Given the description of an element on the screen output the (x, y) to click on. 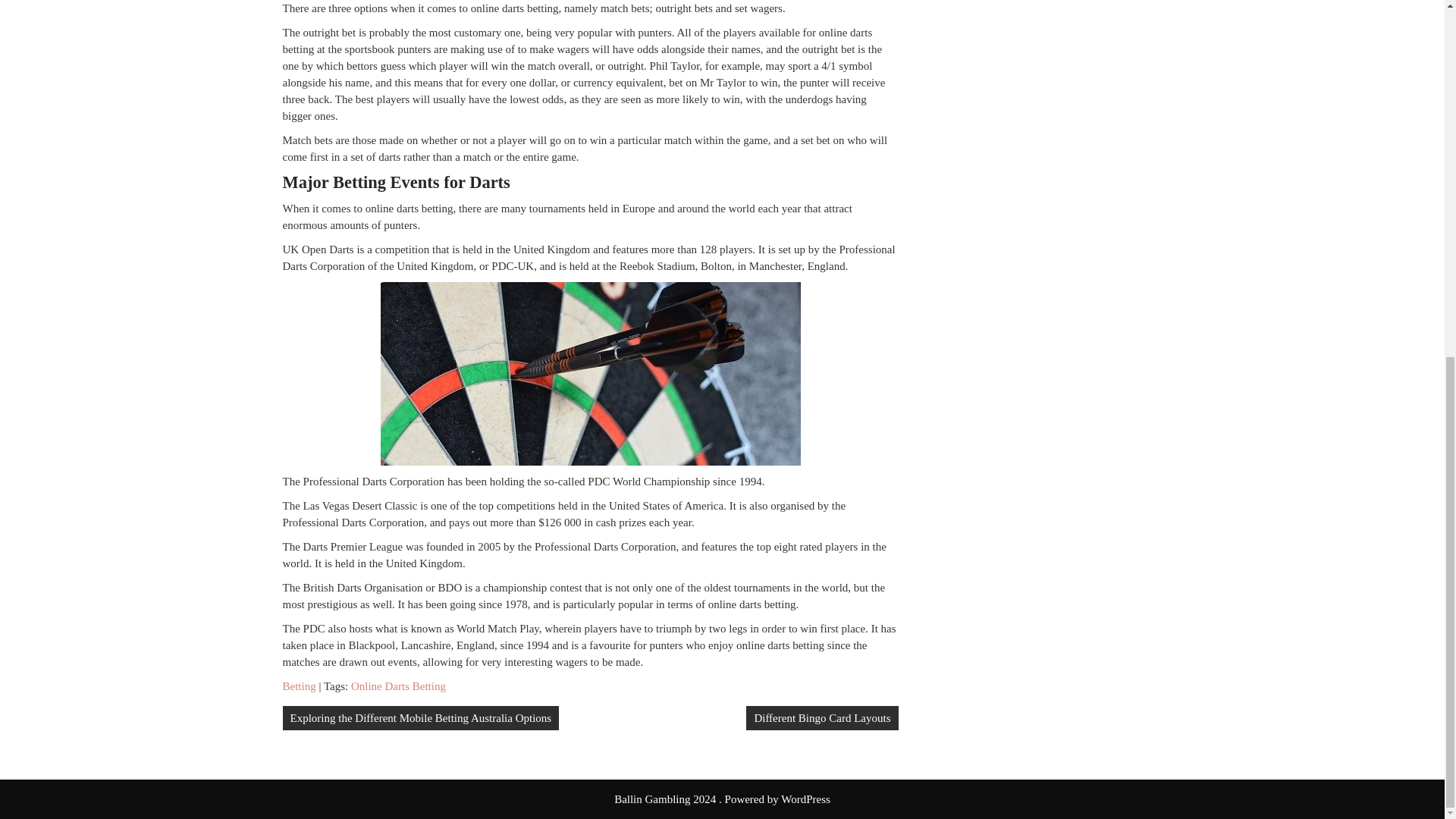
Betting (298, 686)
Online Darts Betting (397, 686)
Exploring the Different Mobile Betting Australia Options (420, 717)
Ballin Gambling 2024 . Powered by WordPress (721, 799)
Different Bingo Card Layouts (821, 717)
